Given the description of an element on the screen output the (x, y) to click on. 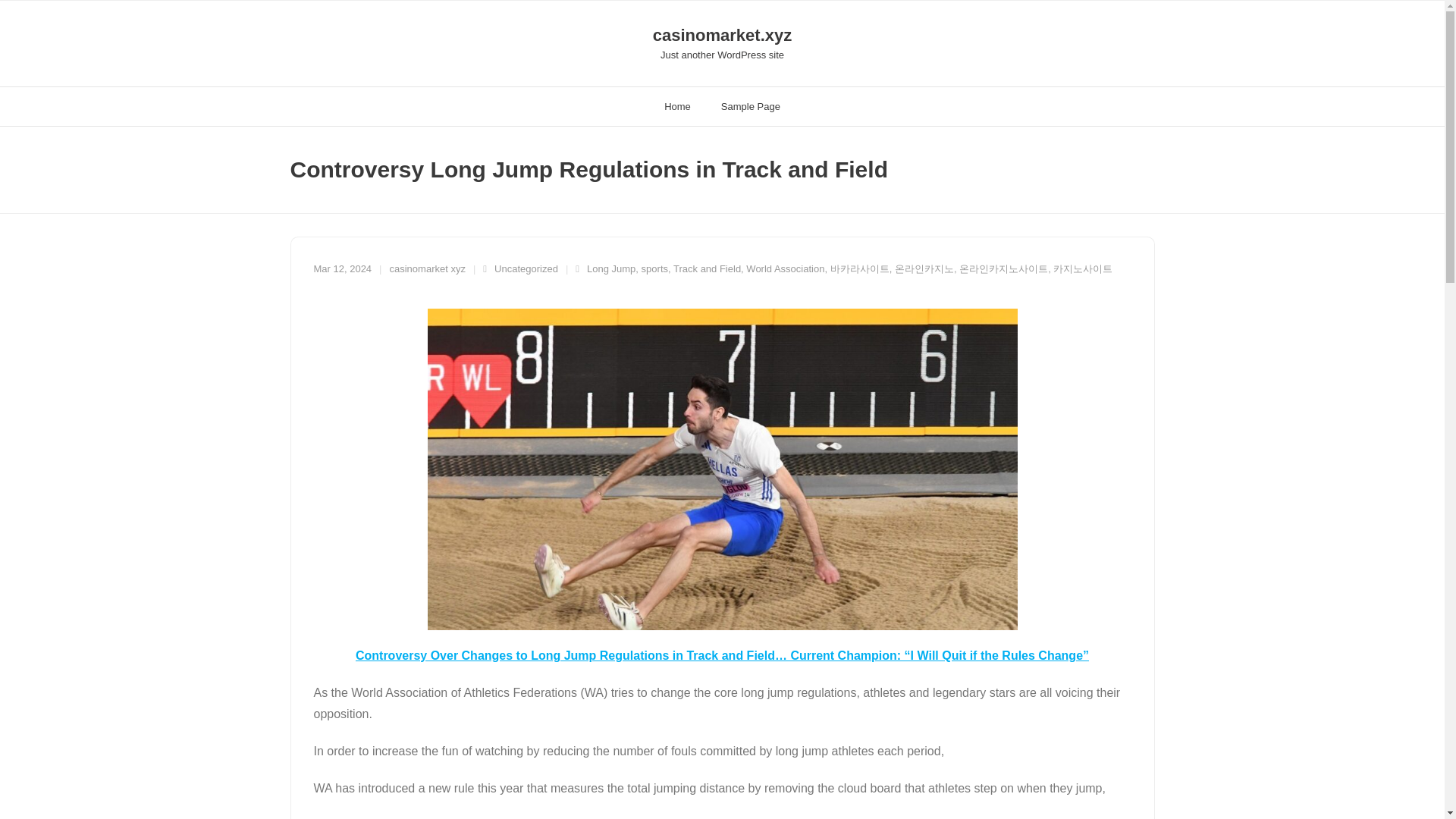
Home (677, 106)
Long Jump (610, 268)
sports (655, 268)
Controversy Long Jump Regulations in Track and Field (343, 268)
Mar 12, 2024 (343, 268)
casinomarket xyz (427, 268)
World Association (784, 268)
Uncategorized (526, 268)
Track and Field (706, 268)
View all posts by casinomarket xyz (427, 268)
Sample Page (750, 106)
